Given the description of an element on the screen output the (x, y) to click on. 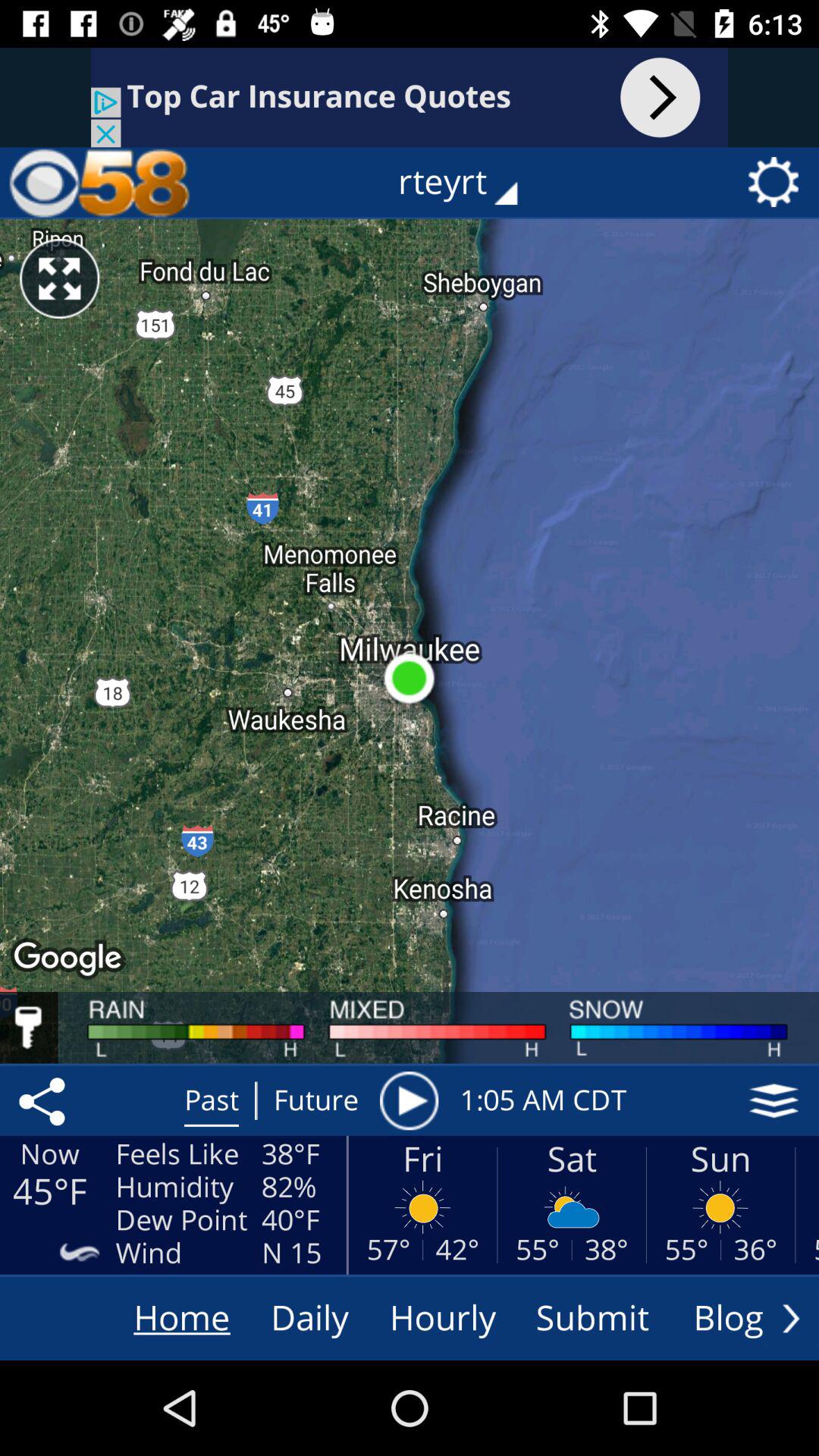
launch the icon above fri item (409, 1100)
